Given the description of an element on the screen output the (x, y) to click on. 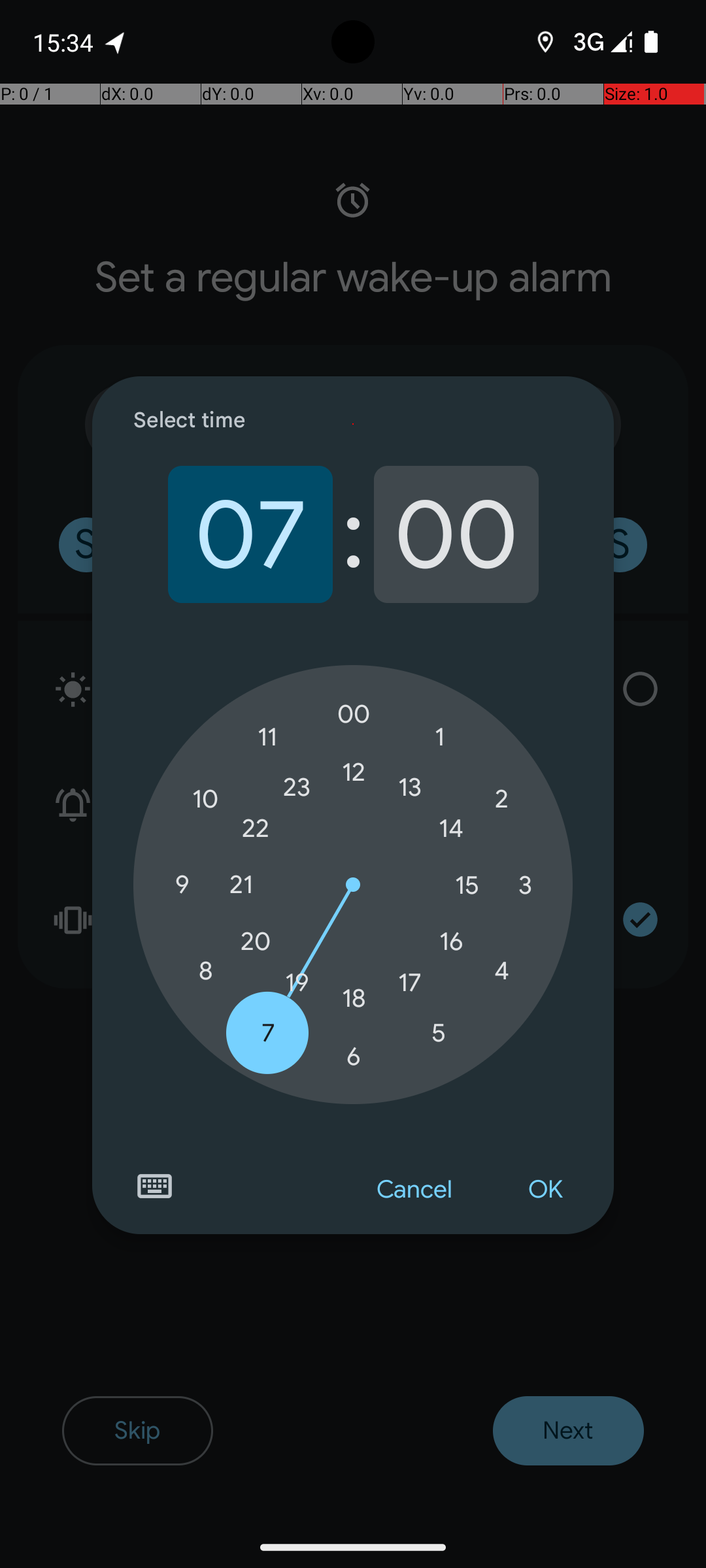
07 Element type: android.view.View (250, 534)
Switch to text input mode for the time input. Element type: android.widget.Button (154, 1186)
Cancel Element type: android.widget.Button (414, 1189)
OK Element type: android.widget.Button (545, 1189)
11 Element type: android.widget.TextView (267, 736)
10 Element type: android.widget.TextView (205, 798)
23 Element type: android.widget.TextView (296, 787)
12 Element type: android.widget.TextView (353, 772)
13 Element type: android.widget.TextView (409, 787)
21 Element type: android.widget.TextView (240, 884)
22 Element type: android.widget.TextView (255, 828)
14 Element type: android.widget.TextView (450, 828)
20 Element type: android.widget.TextView (255, 941)
16 Element type: android.widget.TextView (450, 941)
15 Element type: android.widget.TextView (466, 885)
19 Element type: android.widget.TextView (296, 982)
18 Element type: android.widget.TextView (353, 998)
17 Element type: android.widget.TextView (409, 982)
